Given the description of an element on the screen output the (x, y) to click on. 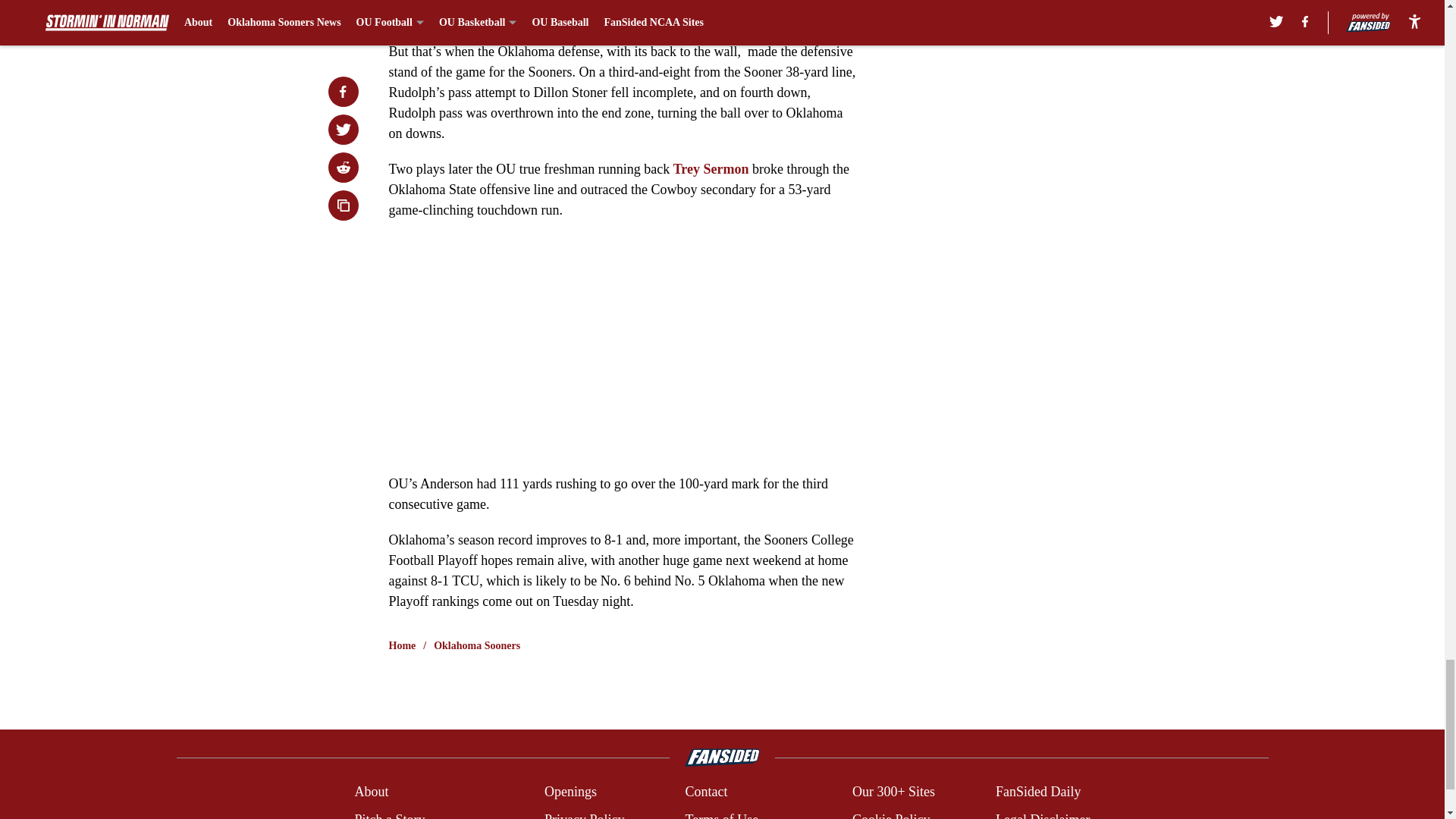
Privacy Policy (584, 814)
Pitch a Story (389, 814)
Oklahoma Sooners (476, 645)
FanSided Daily (1038, 792)
About (370, 792)
Openings (570, 792)
Contact (705, 792)
Home (401, 645)
Terms of Use (721, 814)
Trey Sermon (712, 168)
